Given the description of an element on the screen output the (x, y) to click on. 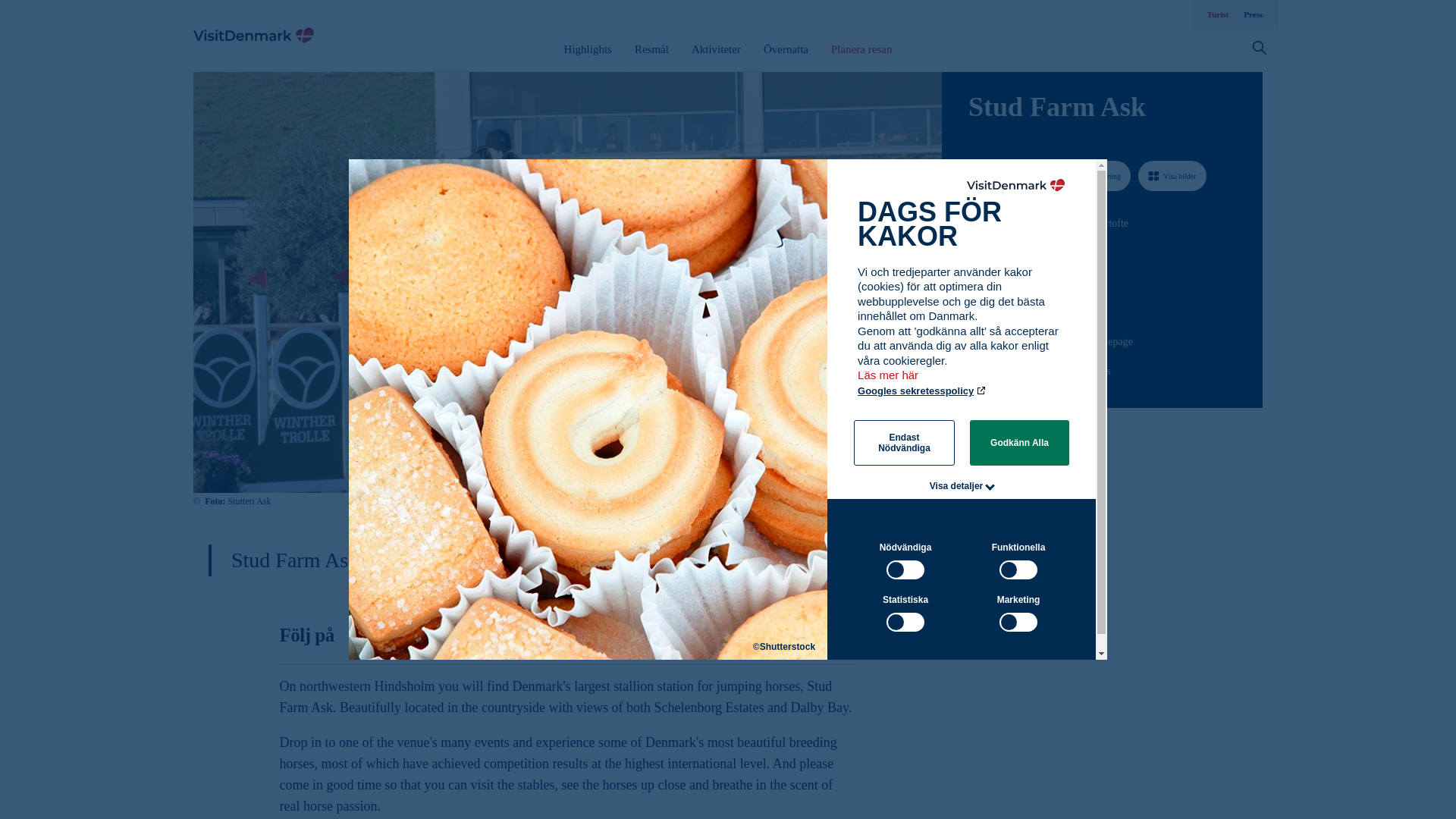
Path (973, 339)
Googles sekretesspolicy (922, 390)
Visa detaljer (957, 485)
Path (973, 279)
